Given the description of an element on the screen output the (x, y) to click on. 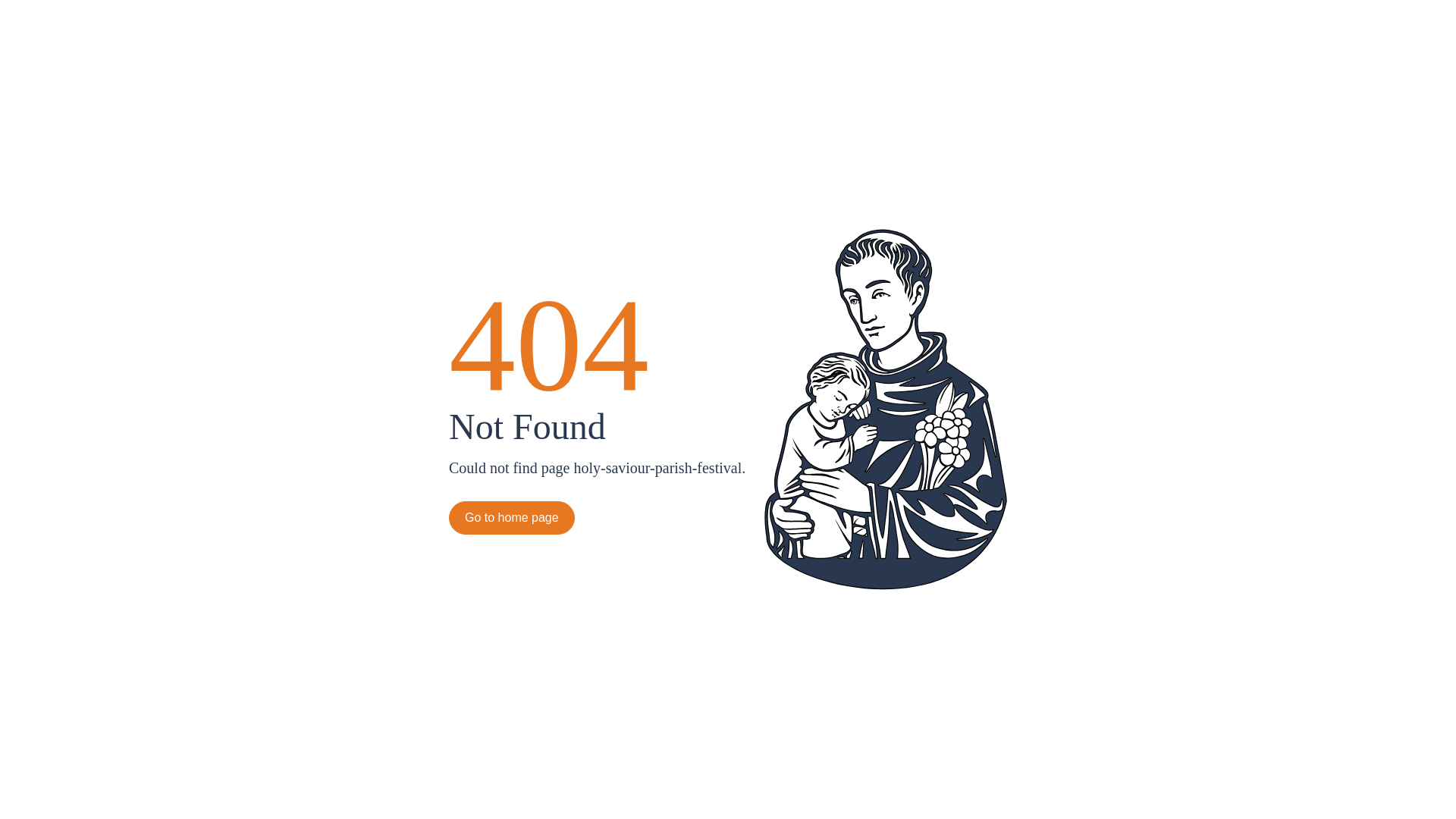
Go to home page Element type: text (511, 517)
